Given the description of an element on the screen output the (x, y) to click on. 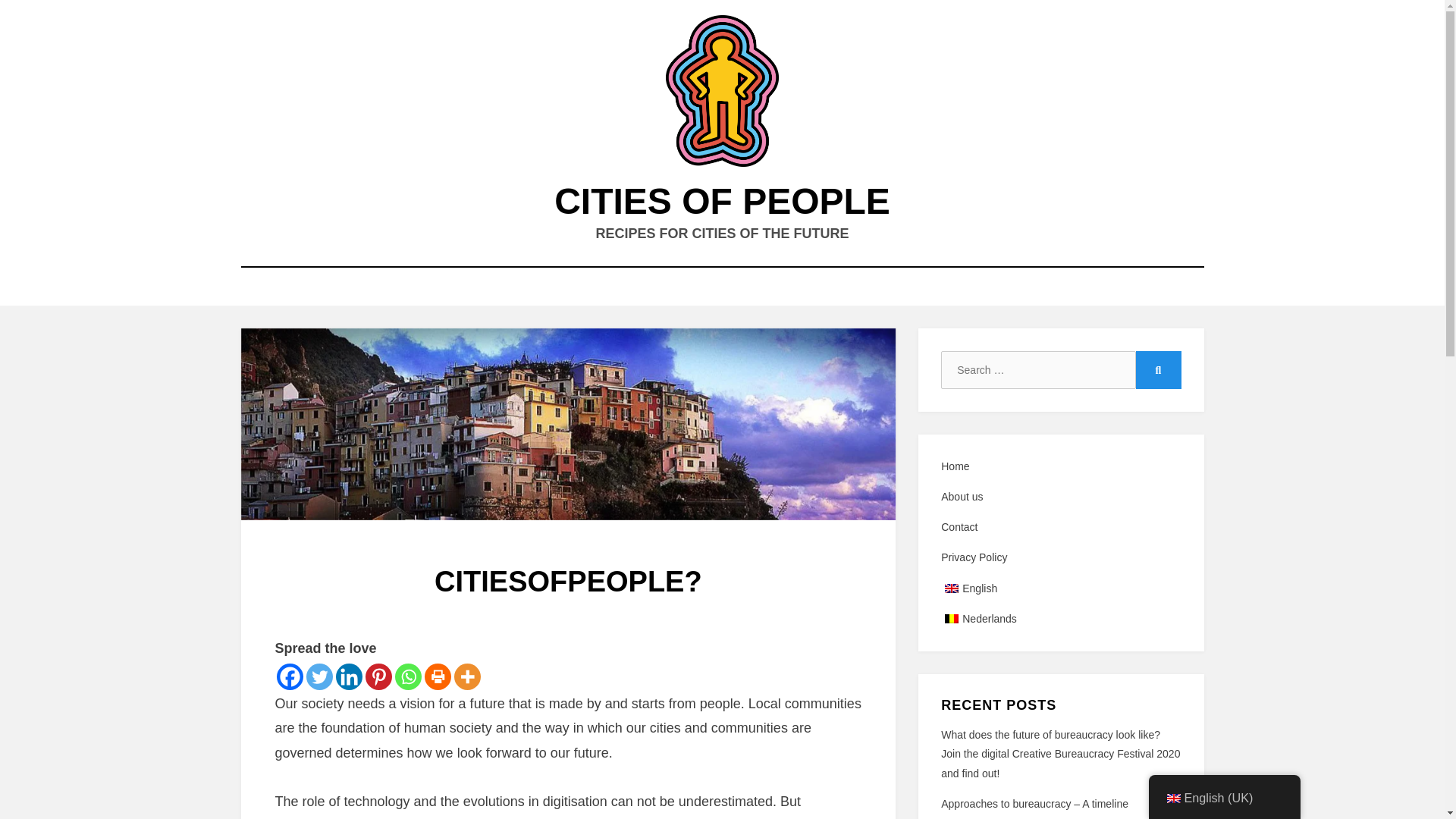
Privacy Policy (1060, 557)
Twitter (319, 676)
Home (1060, 466)
Contact (1060, 527)
Search for: (1037, 370)
More (466, 676)
Print (438, 676)
Cities of People (721, 200)
Search (1157, 370)
Whatsapp (407, 676)
